Given the description of an element on the screen output the (x, y) to click on. 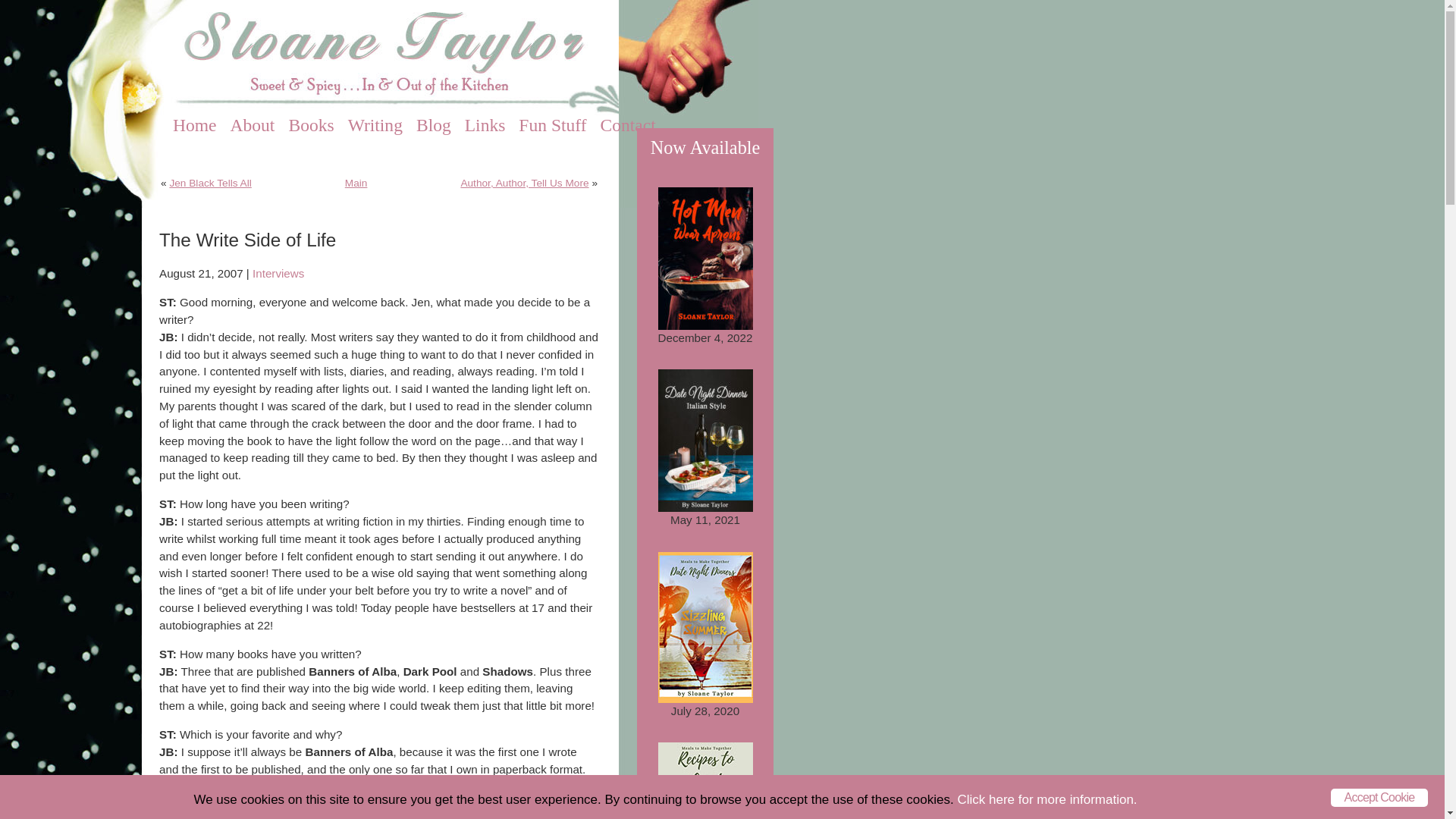
Author, Author, Tell Us More (524, 183)
Jen Black Tells All (209, 183)
Books (310, 125)
Home (194, 125)
Blog (433, 125)
About (252, 125)
Fun Stuff (552, 125)
Writing (375, 125)
Main (356, 183)
Contact (627, 125)
Interviews (277, 273)
Links (484, 125)
